Given the description of an element on the screen output the (x, y) to click on. 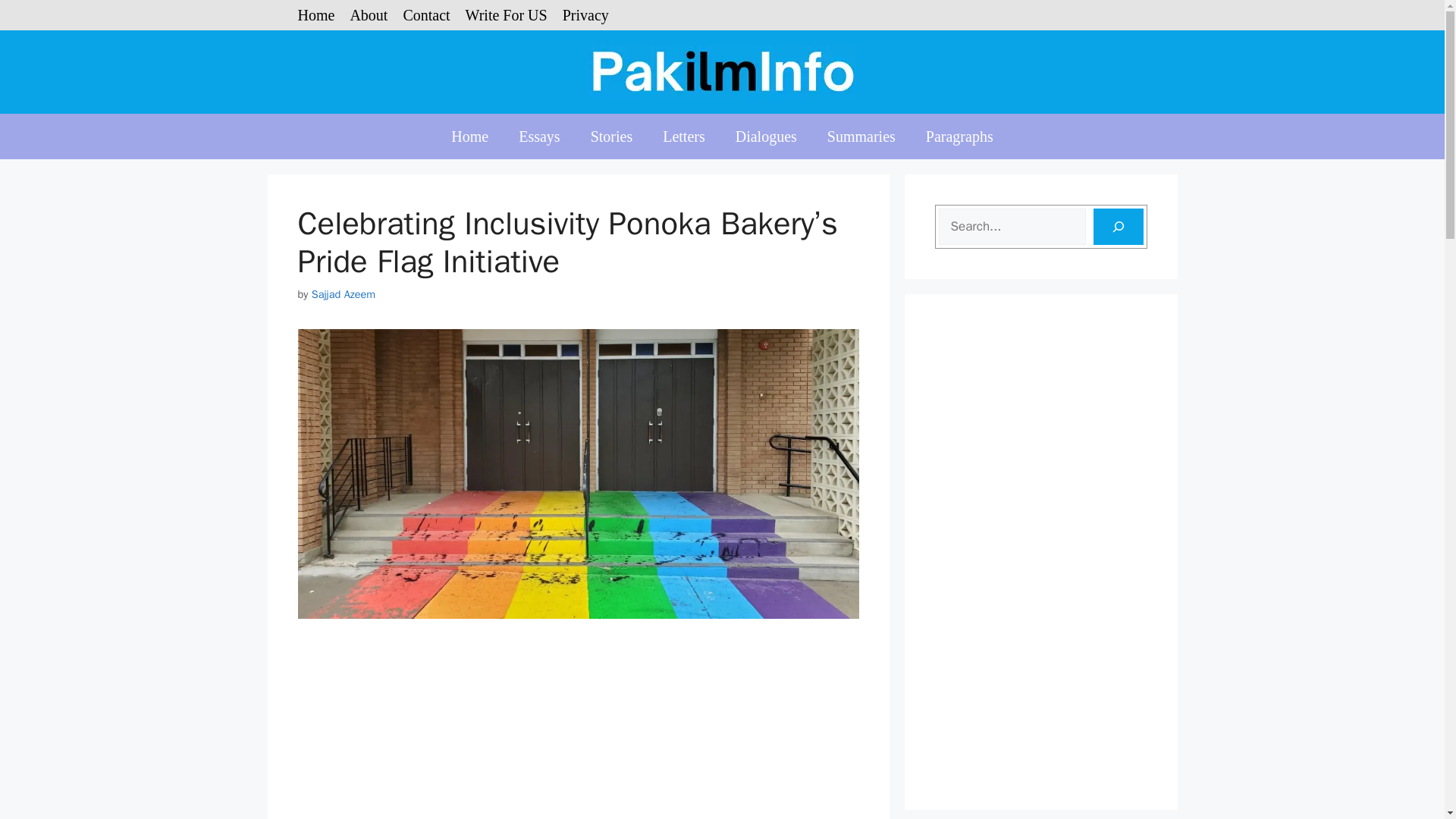
Paragraphs (960, 135)
Home (469, 135)
Privacy (585, 14)
About (368, 14)
Essays (539, 135)
Advertisement (578, 731)
Stories (611, 135)
Dialogues (766, 135)
Contact (426, 14)
Sajjad Azeem (343, 294)
